Given the description of an element on the screen output the (x, y) to click on. 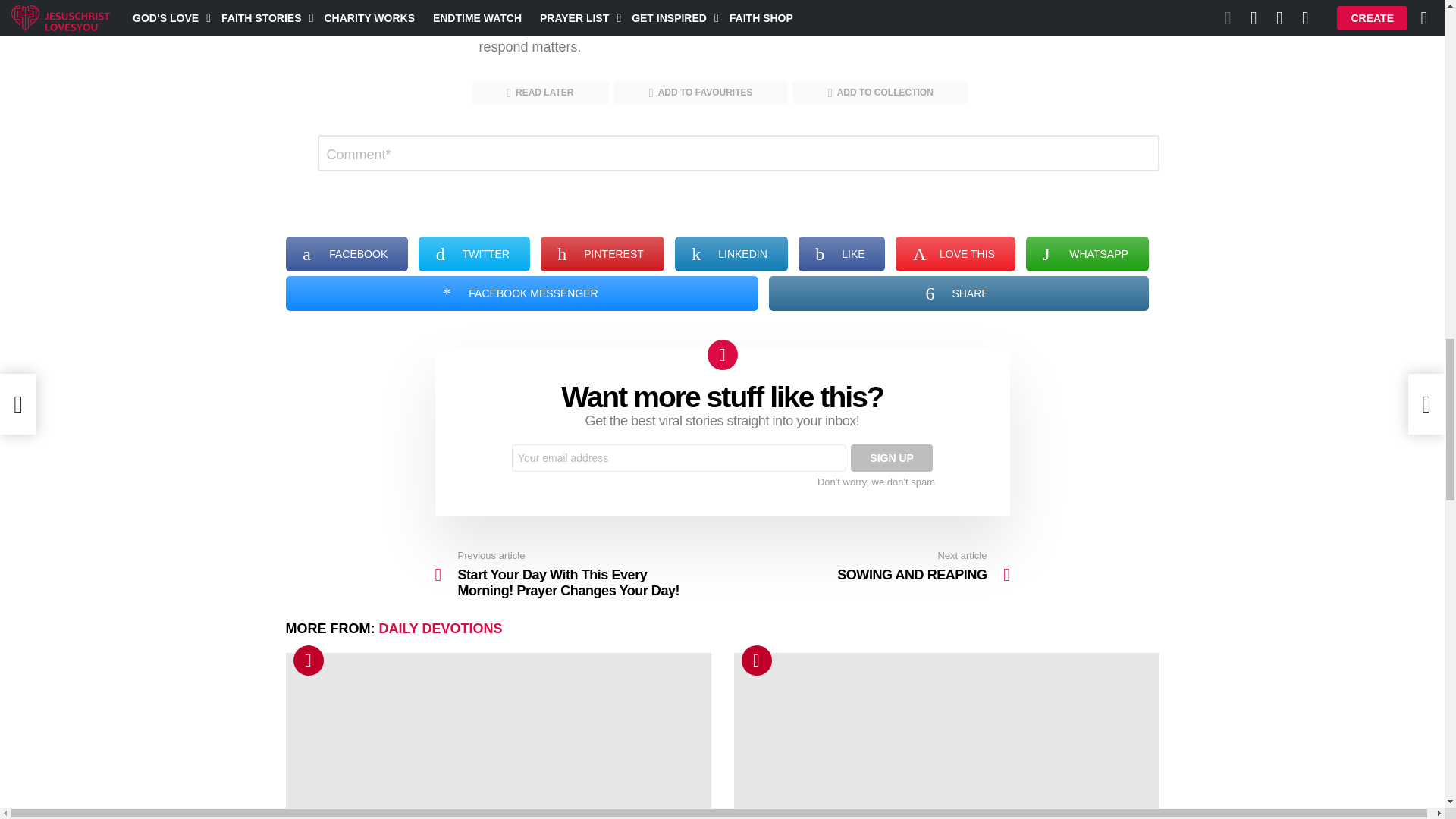
Sign up (891, 457)
